Given the description of an element on the screen output the (x, y) to click on. 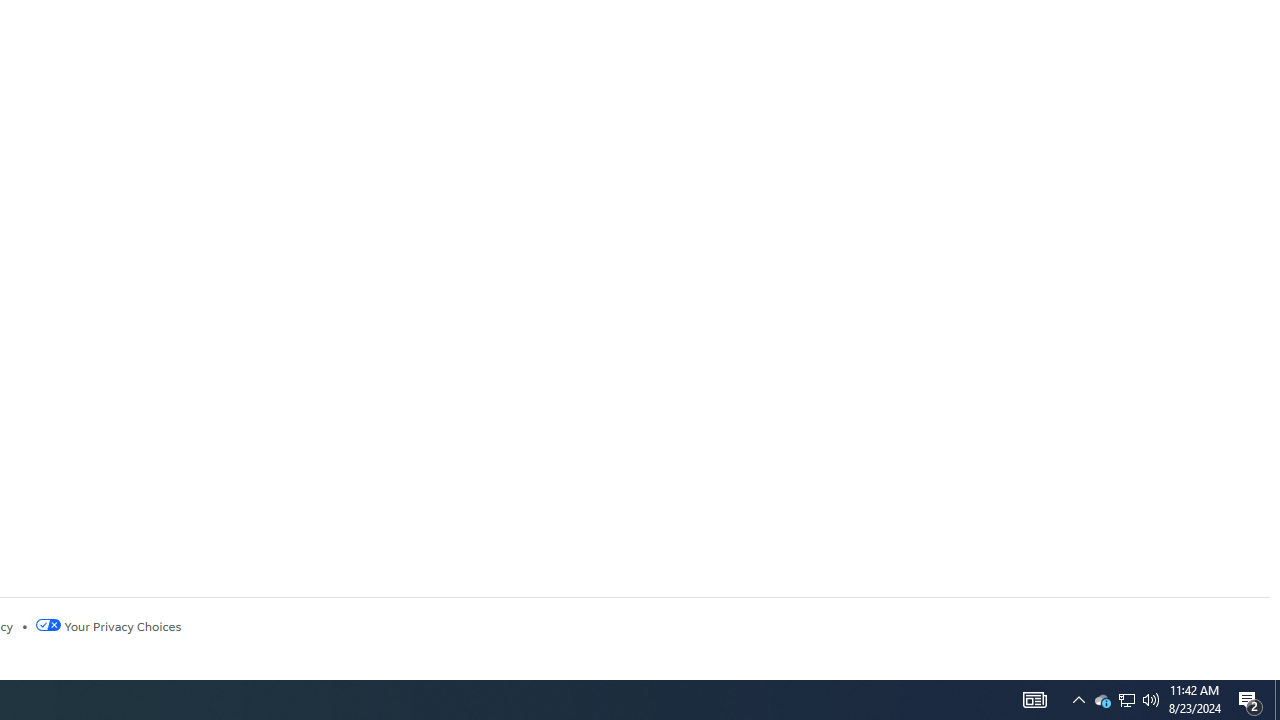
 Your Privacy Choices (108, 626)
